Given the description of an element on the screen output the (x, y) to click on. 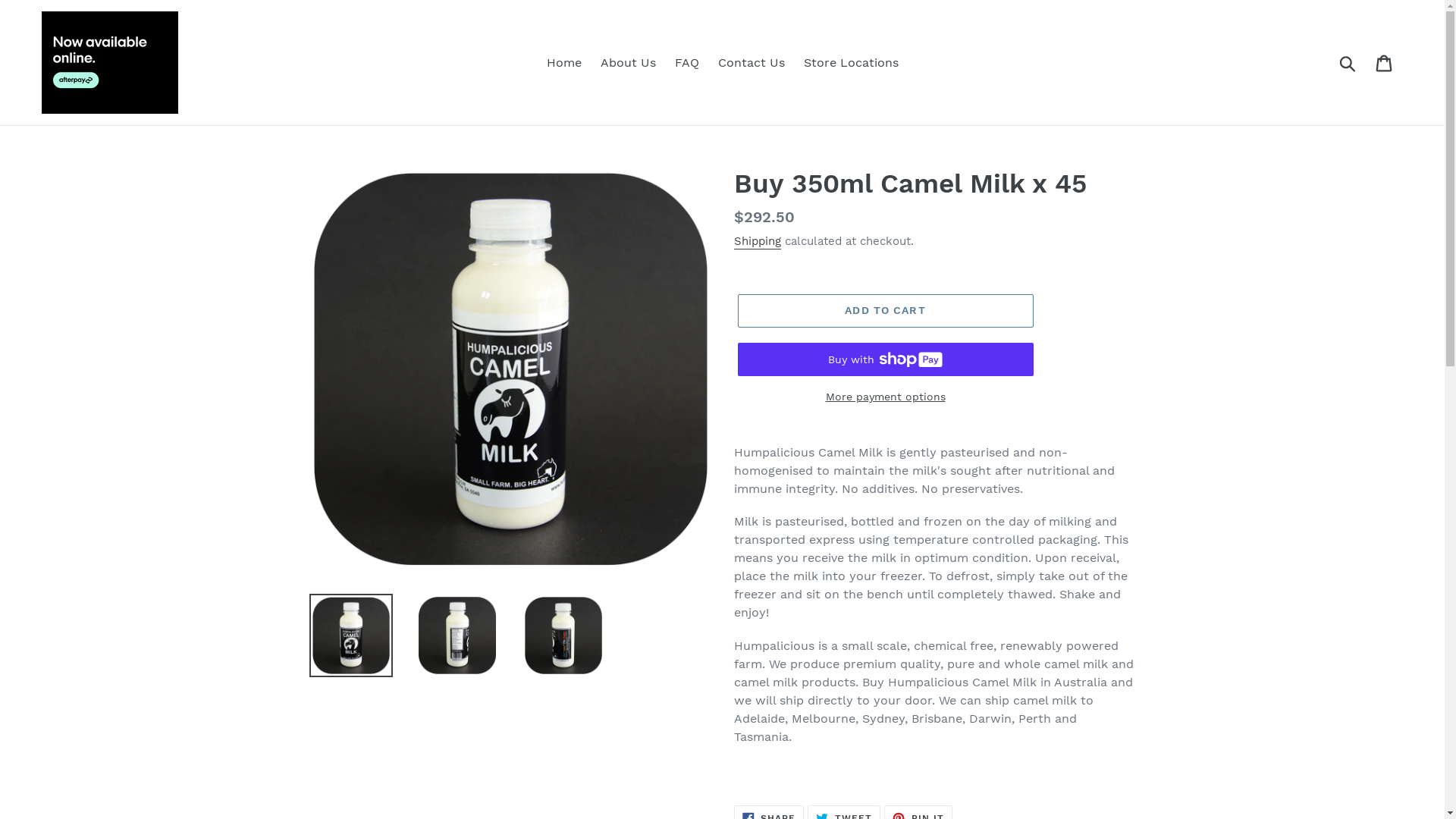
Submit Element type: text (1348, 61)
FAQ Element type: text (686, 62)
Contact Us Element type: text (750, 62)
More payment options Element type: text (884, 396)
ADD TO CART Element type: text (884, 310)
About Us Element type: text (628, 62)
Home Element type: text (563, 62)
Store Locations Element type: text (851, 62)
Shipping Element type: text (757, 241)
Cart Element type: text (1384, 62)
